Given the description of an element on the screen output the (x, y) to click on. 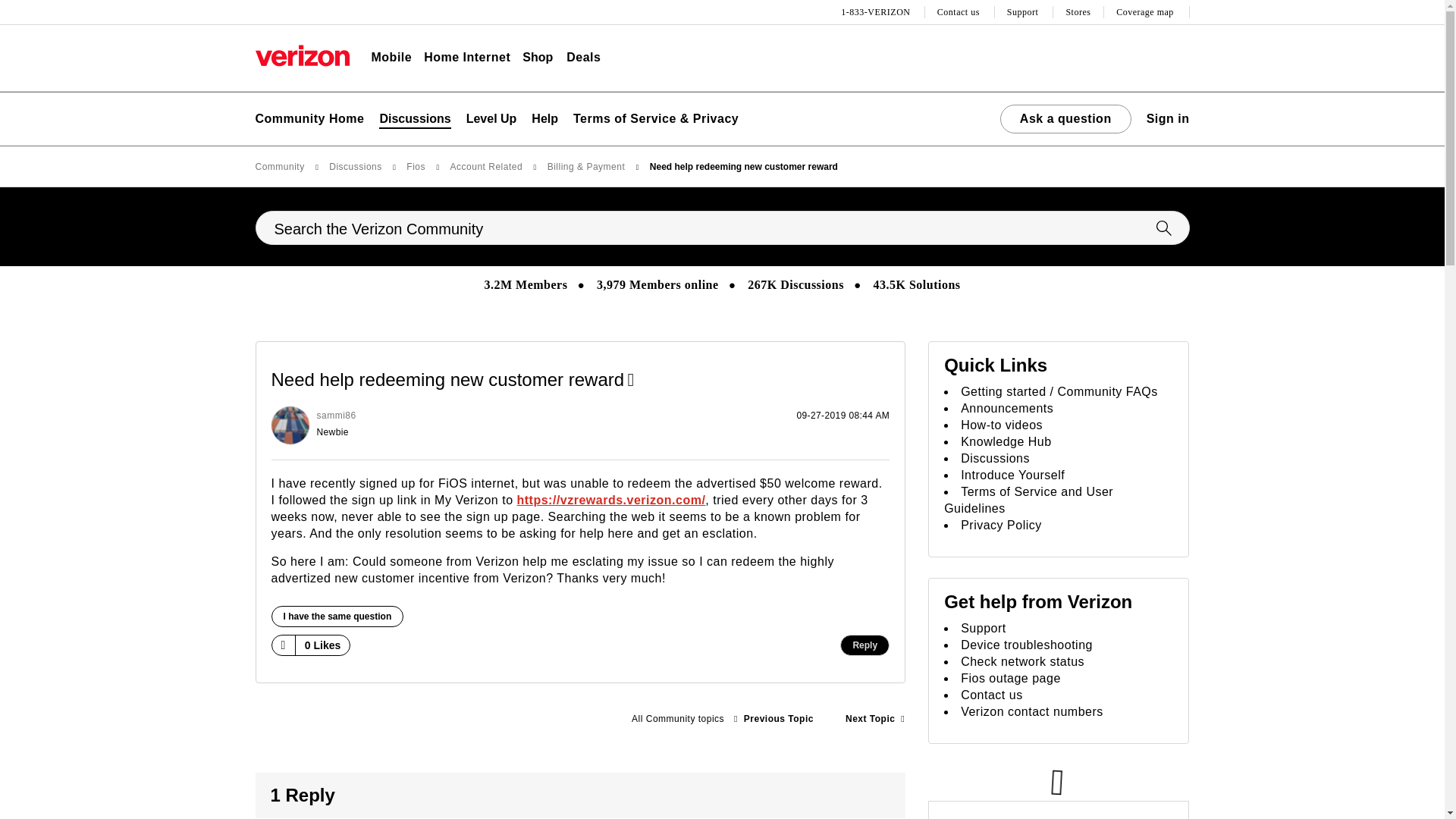
Contains a hyperlink (630, 380)
The total number of likes this post has received. (322, 645)
Support (1024, 12)
Stores (1078, 12)
Search (721, 227)
1-833-VERIZON (876, 12)
Search (1163, 227)
service (874, 718)
Contact us (959, 12)
Coverage map (1146, 12)
Shop (537, 57)
Search (1163, 227)
Home Internet (467, 57)
Mobile (391, 57)
Verizon Home Page (301, 55)
